Given the description of an element on the screen output the (x, y) to click on. 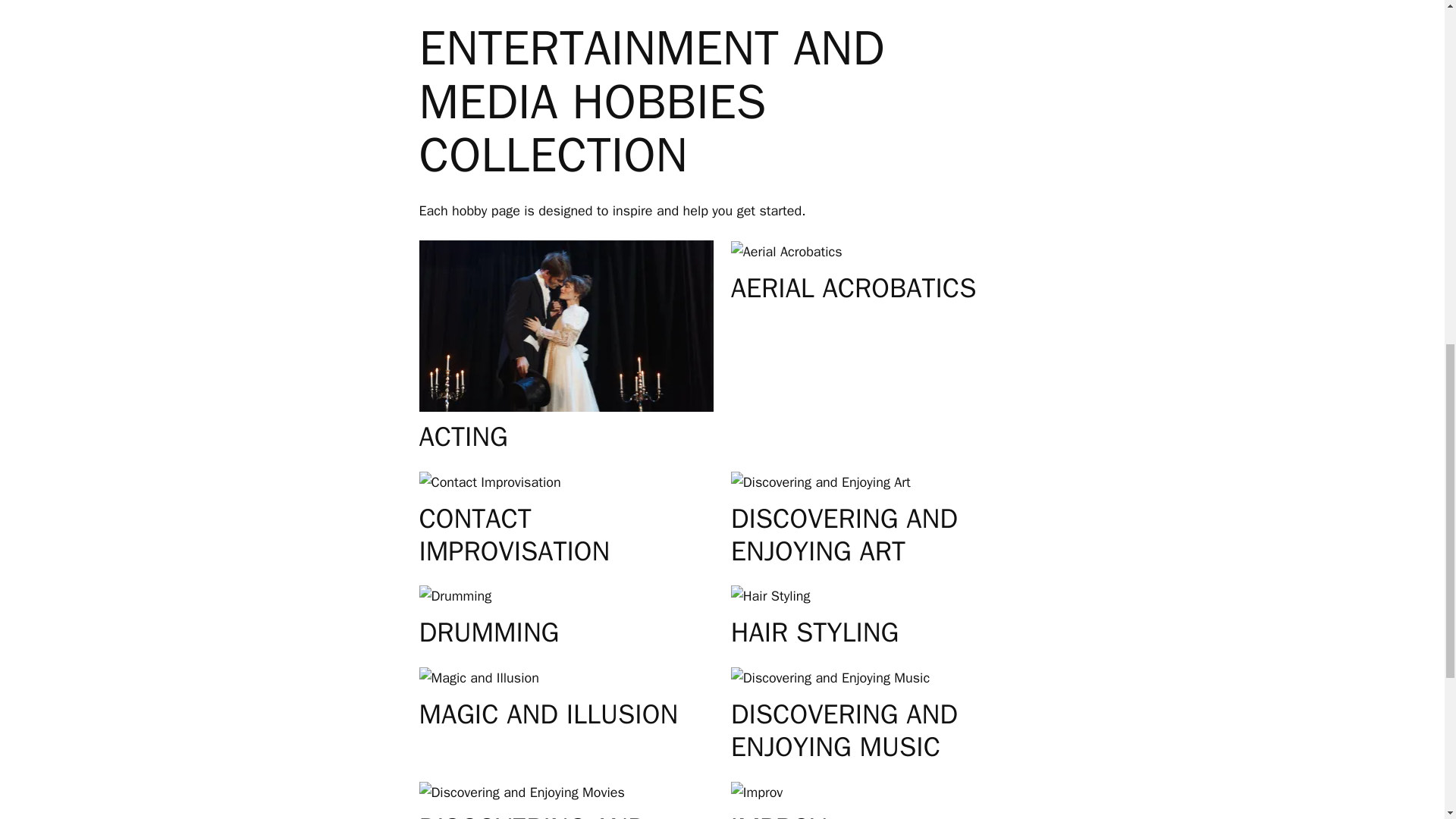
IMPROV (777, 815)
DISCOVERING AND ENJOYING MUSIC (878, 730)
DISCOVERING AND ENJOYING ART (878, 535)
ACTING (462, 436)
AERIAL ACROBATICS (853, 287)
DISCOVERING AND ENJOYING MOVIES (566, 815)
CONTACT IMPROVISATION (566, 535)
HAIR STYLING (814, 632)
MAGIC AND ILLUSION (548, 714)
DRUMMING (489, 632)
